Given the description of an element on the screen output the (x, y) to click on. 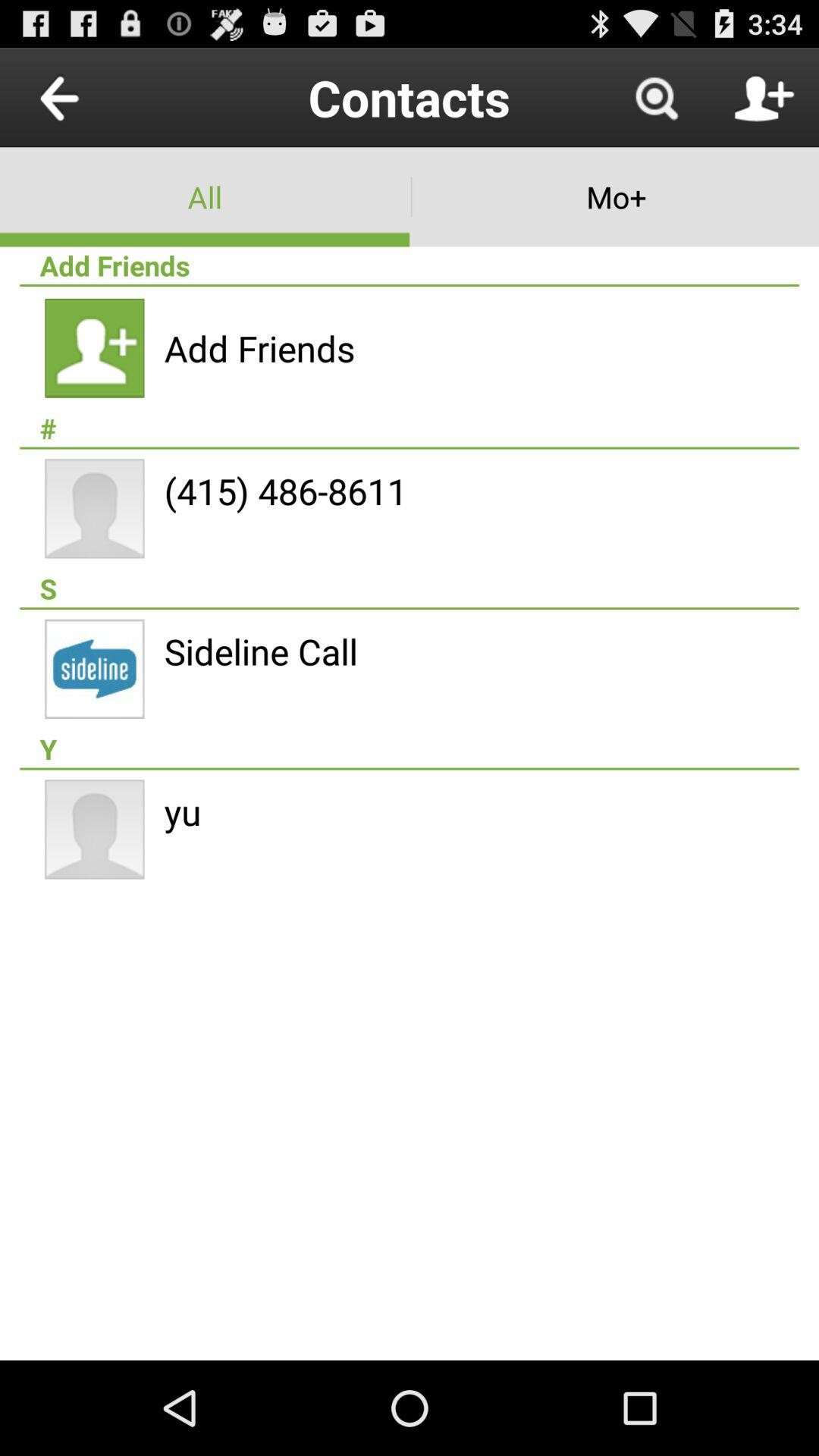
turn off item next to all app (614, 196)
